Given the description of an element on the screen output the (x, y) to click on. 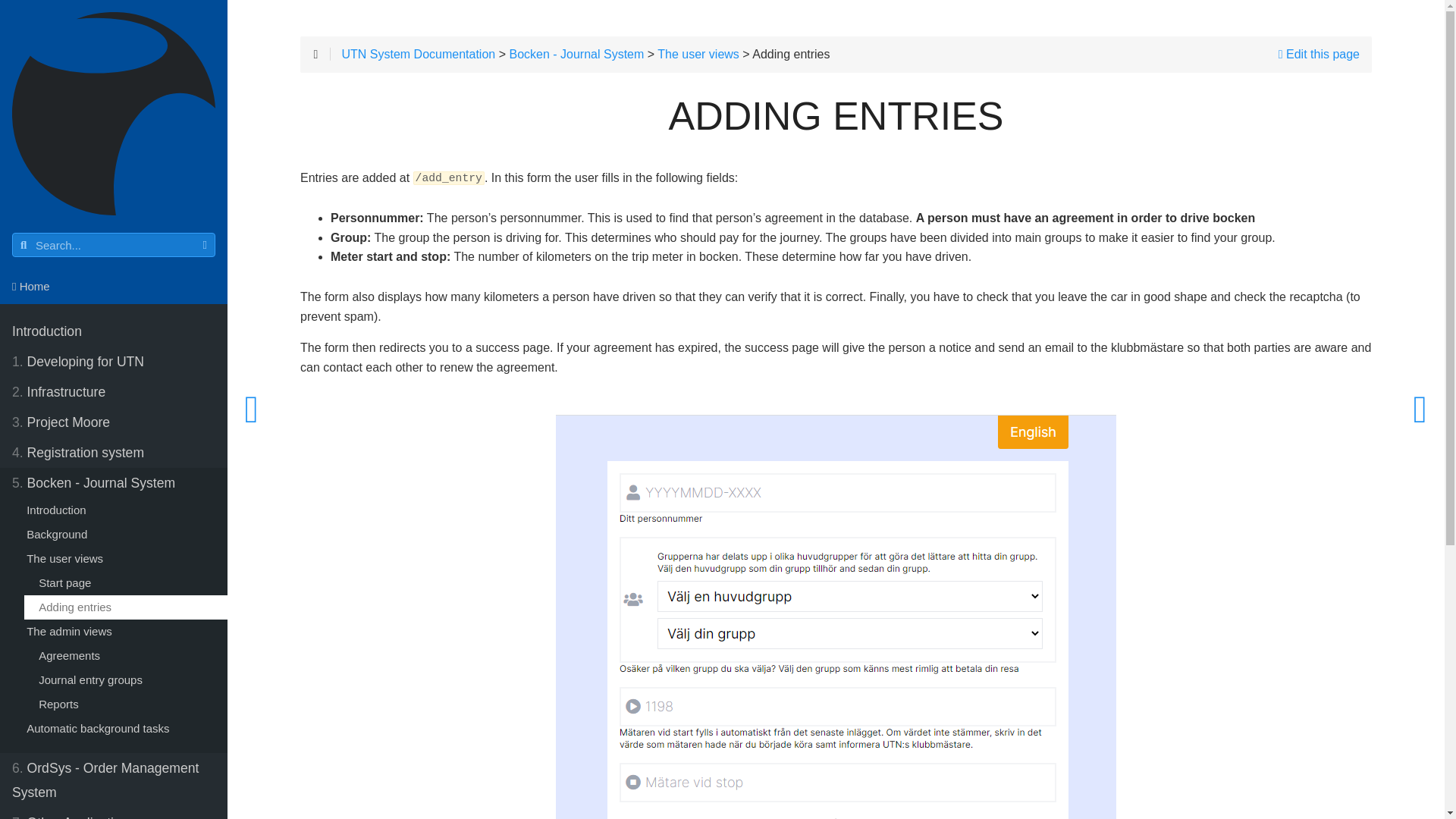
The user views (119, 558)
3. Project Moore (113, 422)
Project Moore (113, 422)
4. Registration system (113, 452)
Background (119, 534)
Introduction (119, 509)
5. Bocken - Journal System (113, 482)
Introduction (113, 331)
2. Infrastructure (113, 391)
Home (113, 286)
Developing for UTN (113, 361)
Infrastructure (113, 391)
1. Developing for UTN (113, 361)
Introduction (113, 331)
